Given the description of an element on the screen output the (x, y) to click on. 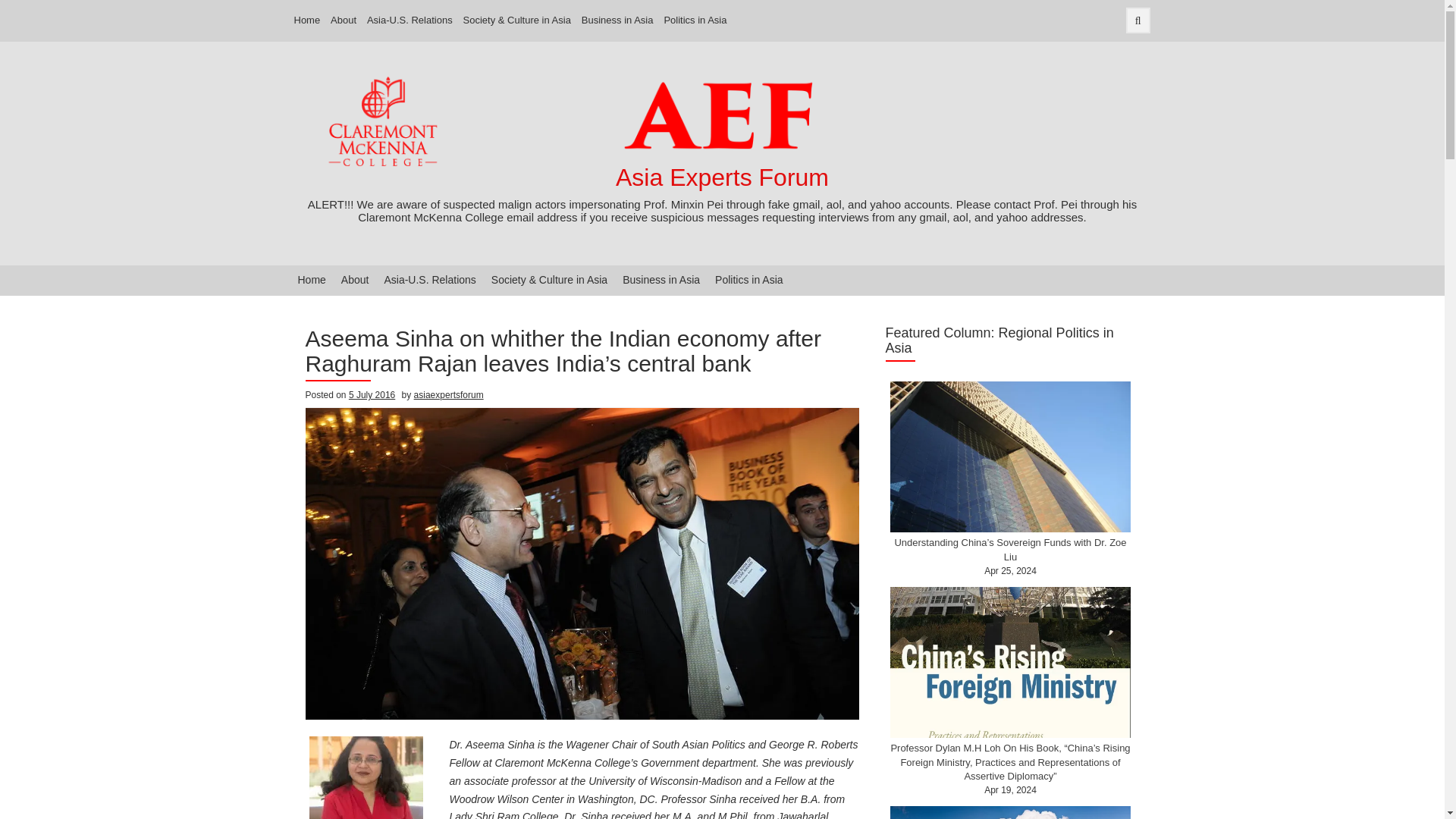
Politics in Asia (748, 280)
About (342, 20)
asiaexpertsforum (448, 394)
Asia-U.S. Relations (409, 20)
Politics in Asia (694, 20)
Business in Asia (618, 20)
About (355, 280)
Home (311, 280)
Asia-U.S. Relations (429, 280)
Business in Asia (660, 280)
